Given the description of an element on the screen output the (x, y) to click on. 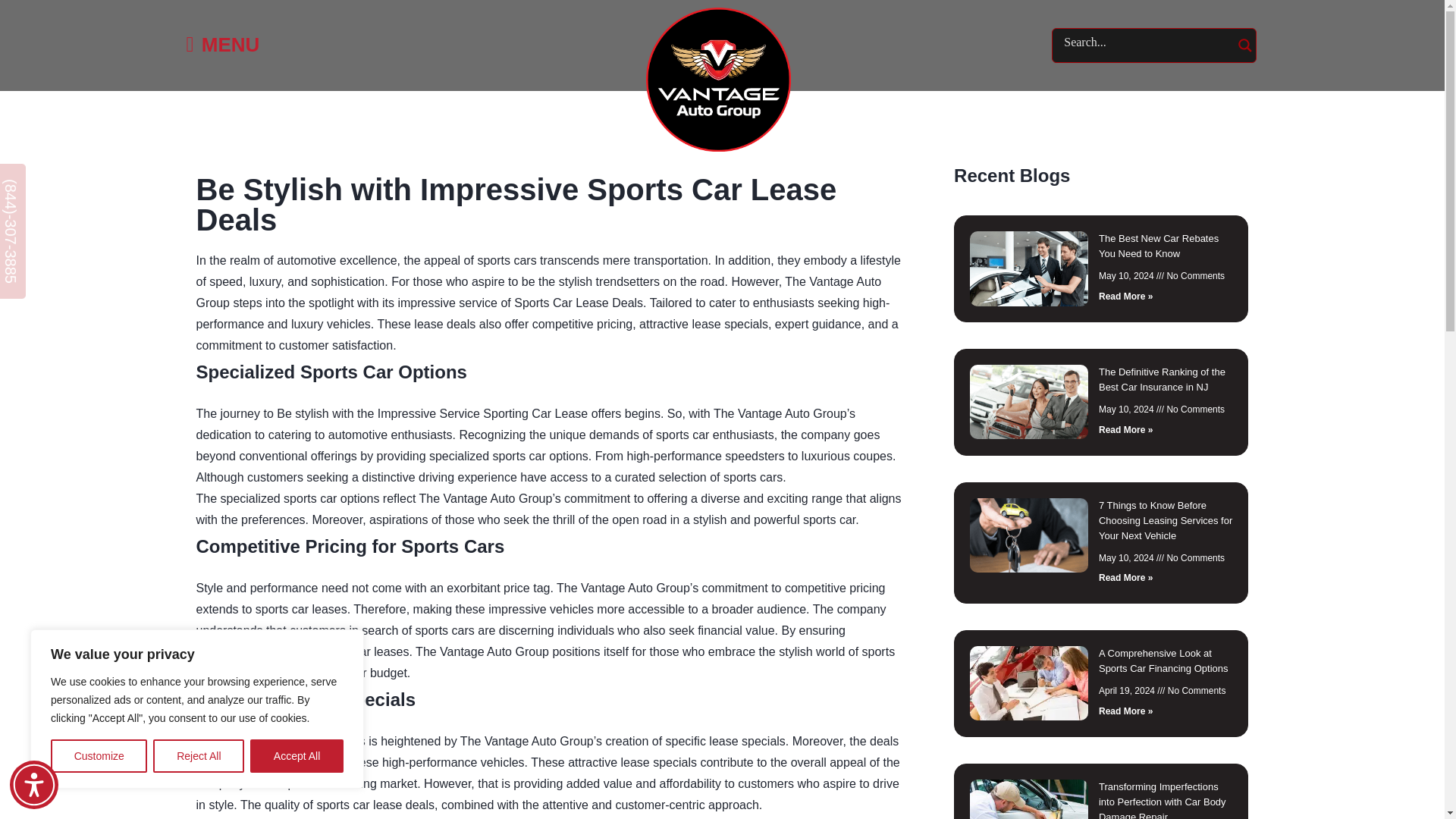
Customize (98, 756)
Accept All (296, 756)
MENU (222, 44)
Accessibility Menu (34, 784)
Reject All (198, 756)
